Given the description of an element on the screen output the (x, y) to click on. 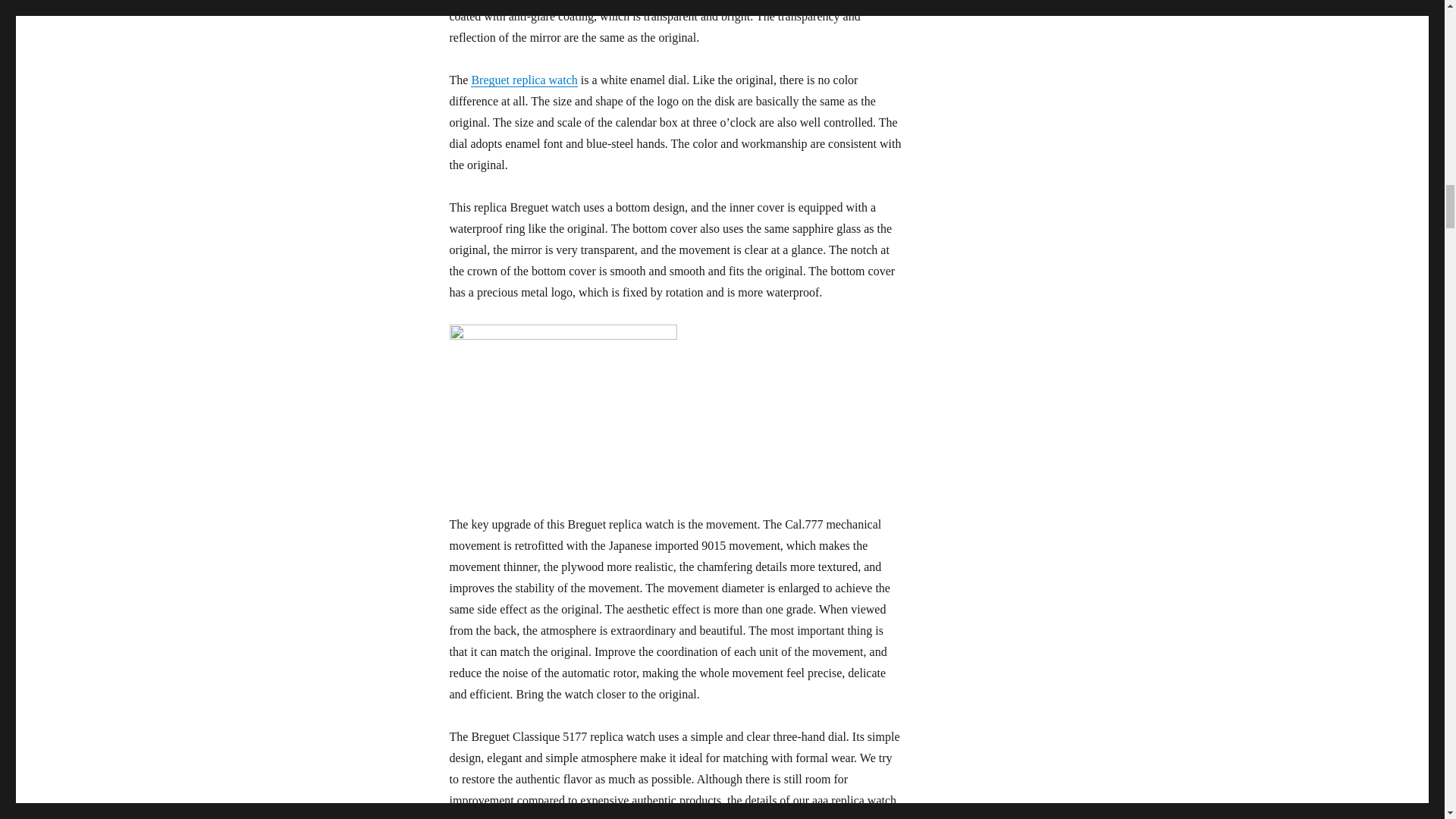
Breguet replica watch (523, 79)
